Given the description of an element on the screen output the (x, y) to click on. 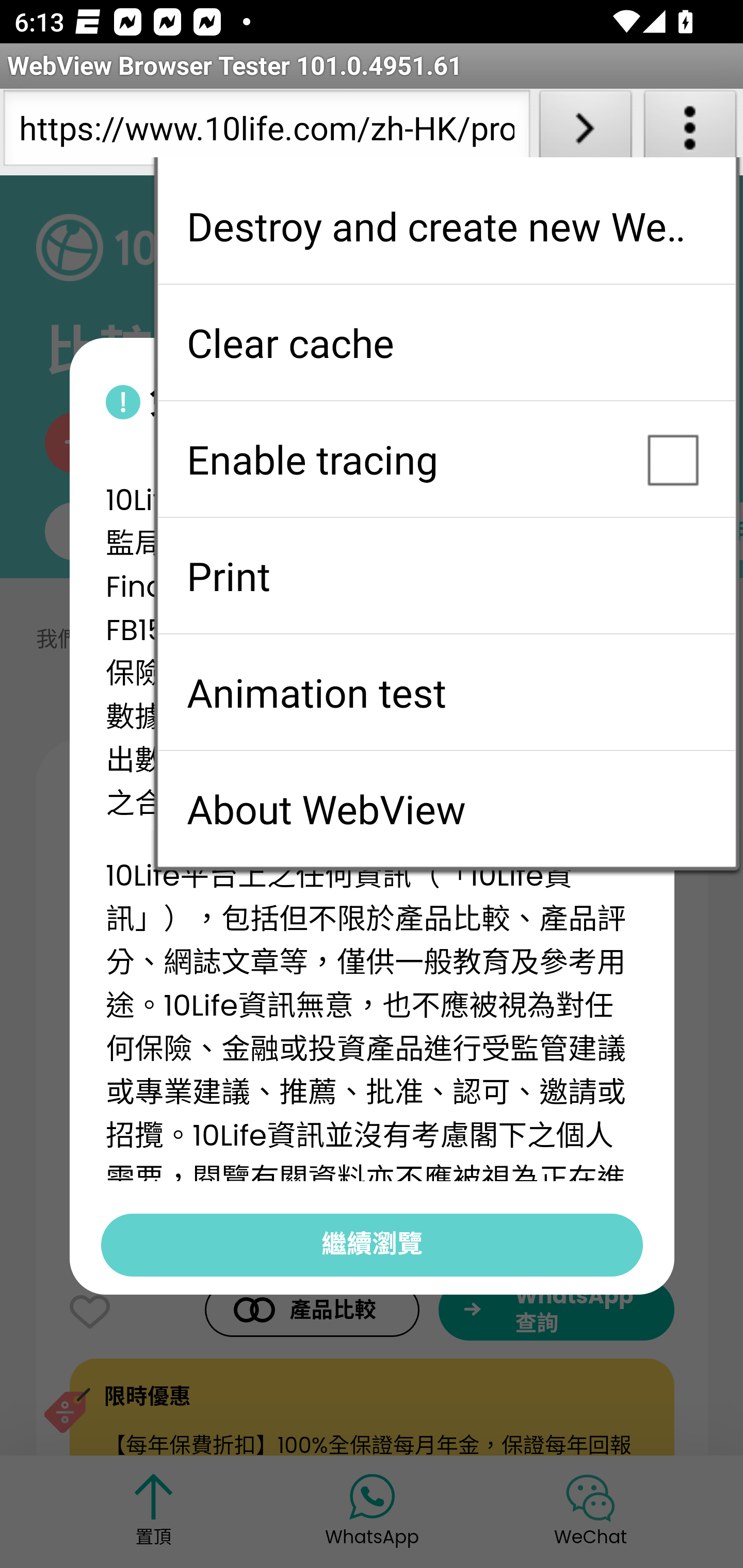
Destroy and create new WebView (446, 225)
Clear cache (446, 342)
Enable tracing (446, 459)
Print (446, 575)
Animation test (446, 692)
About WebView (446, 809)
